Given the description of an element on the screen output the (x, y) to click on. 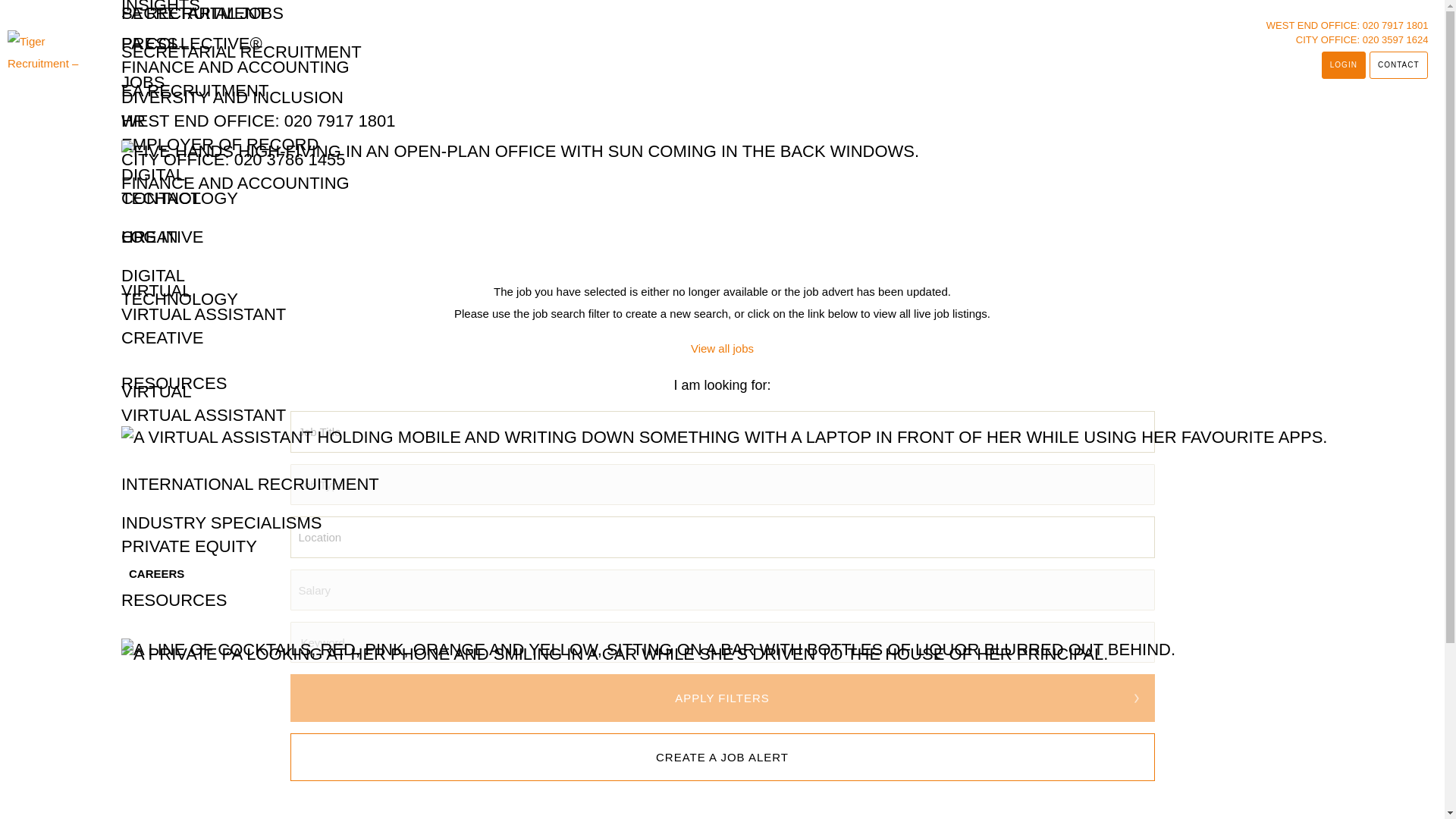
INTERNATIONAL RECRUITMENT (249, 484)
VIRTUAL ASSISTANT (202, 314)
CREATIVE (161, 237)
VIRTUAL (156, 290)
DIGITAL (152, 174)
EMPLOYER OF RECORD (219, 144)
HR (132, 237)
INDUSTRY SPECIALISMS (220, 522)
FINANCE AND ACCOUNTING (234, 66)
Contact (1399, 64)
